Given the description of an element on the screen output the (x, y) to click on. 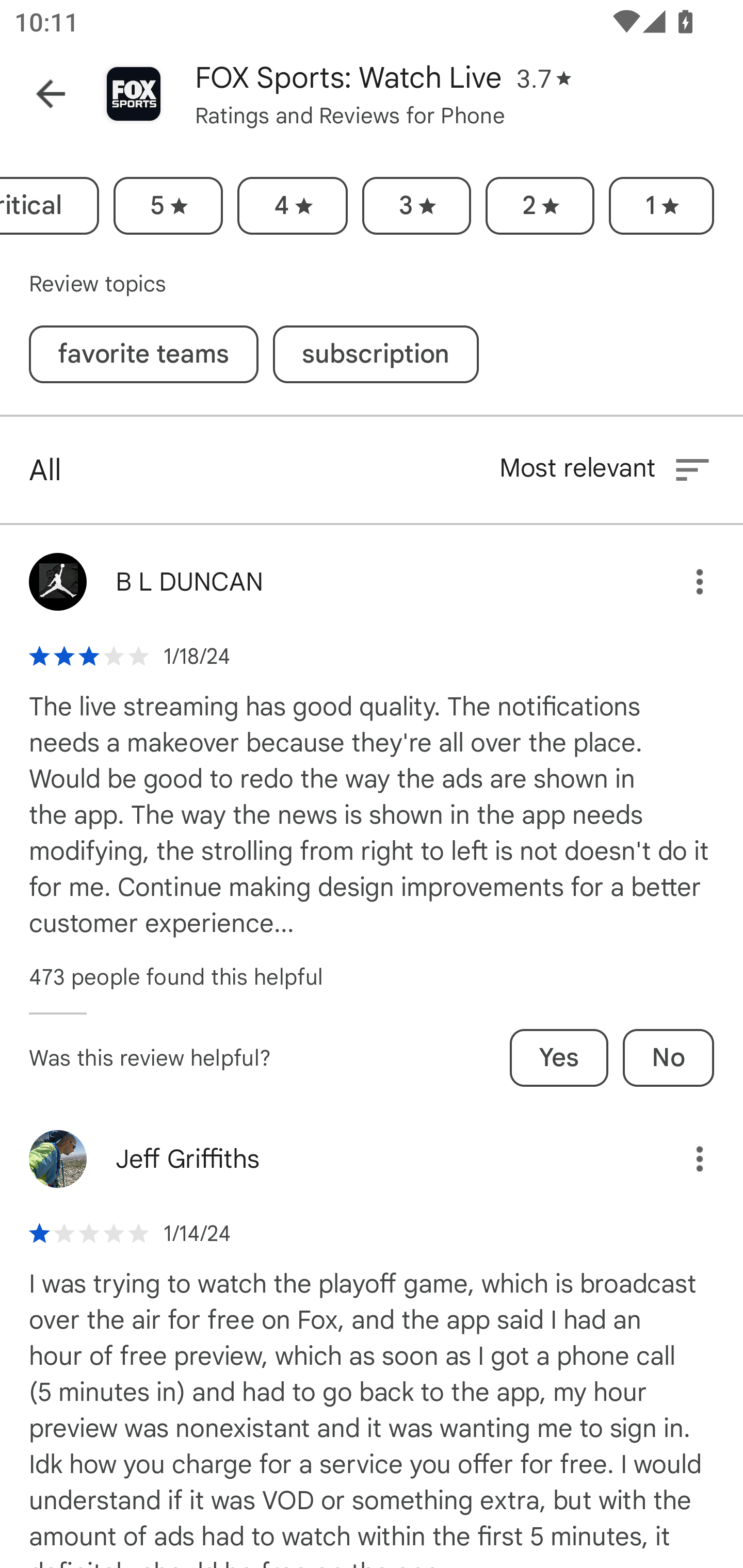
Navigate up (50, 93)
Critical (49, 206)
5 5 Stars (167, 206)
4 4 Stars (292, 206)
3 3 Stars (416, 206)
2 2 Stars (539, 206)
1 1 Star (661, 206)
favorite teams (143, 354)
subscription (375, 354)
Most relevant (606, 469)
Options (685, 581)
Yes (558, 1057)
No (668, 1057)
Options (685, 1159)
